Given the description of an element on the screen output the (x, y) to click on. 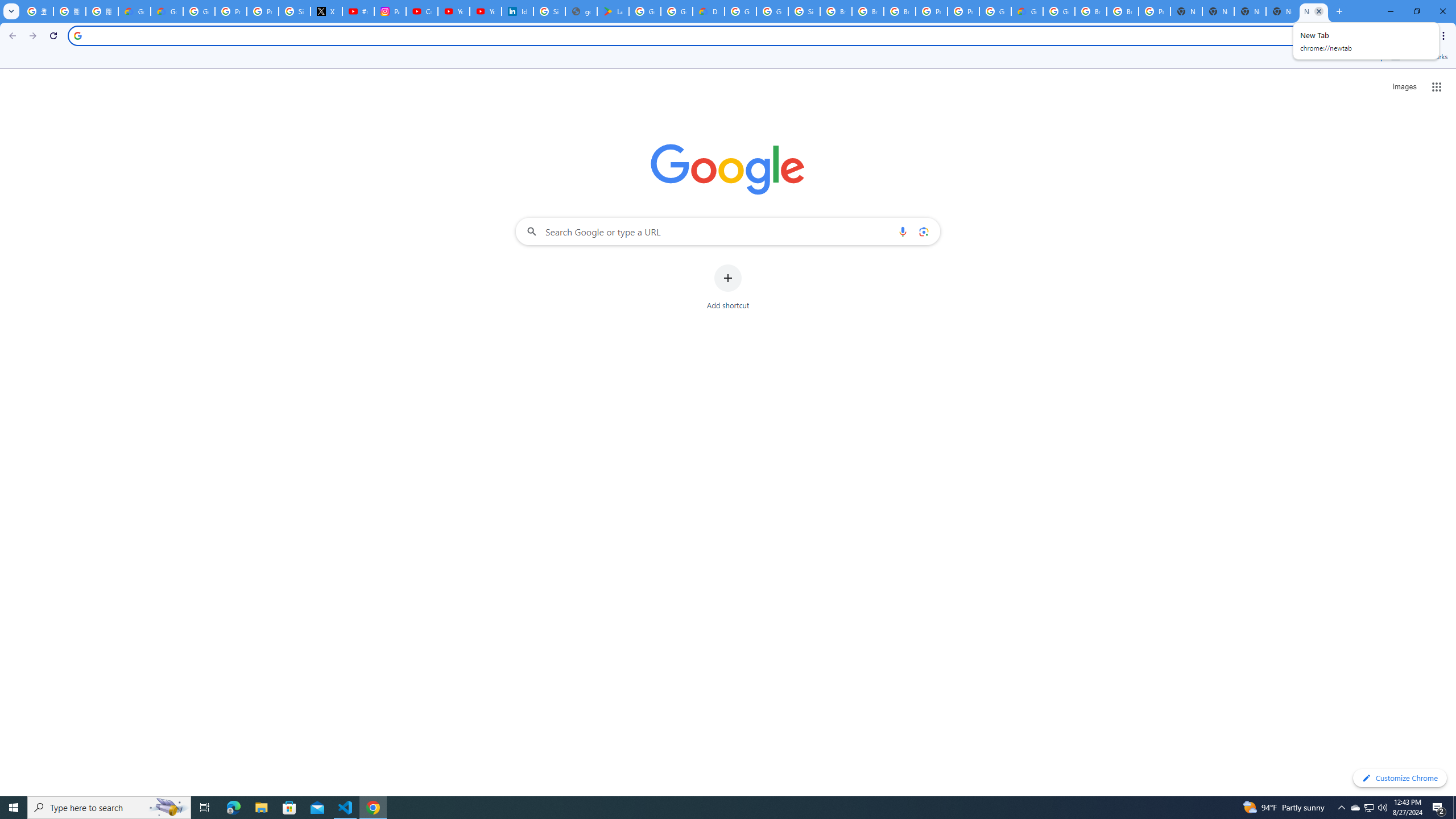
New Tab (1185, 11)
Privacy Help Center - Policies Help (262, 11)
Sign in - Google Accounts (294, 11)
Google Cloud Platform (740, 11)
Browse Chrome as a guest - Computer - Google Chrome Help (1091, 11)
Search Google or type a URL (727, 230)
Add shortcut (727, 287)
Google Cloud Estimate Summary (1027, 11)
Customize Chrome (1399, 778)
